Given the description of an element on the screen output the (x, y) to click on. 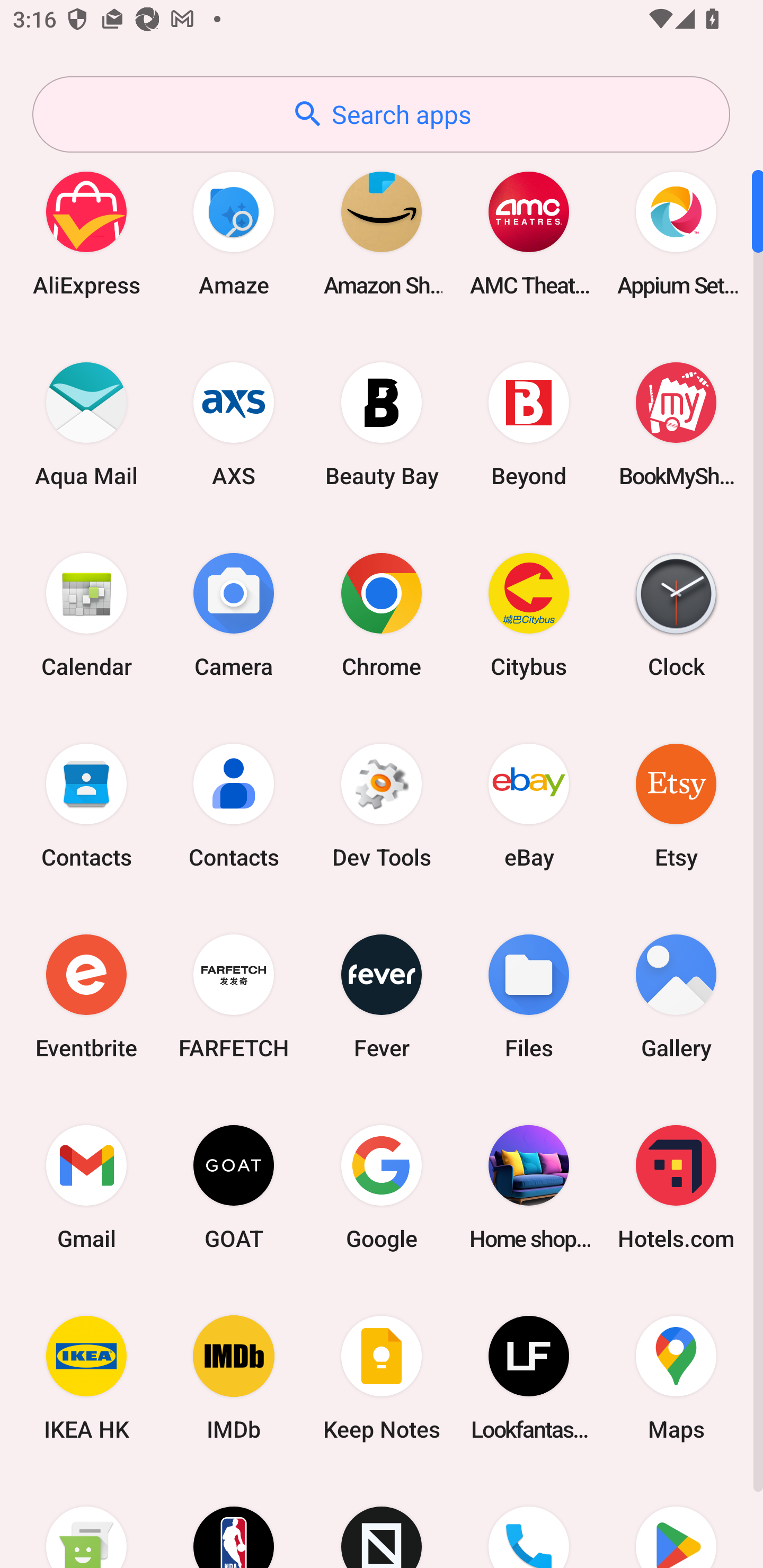
  Search apps (381, 114)
AliExpress (86, 233)
Amaze (233, 233)
Amazon Shopping (381, 233)
AMC Theatres (528, 233)
Appium Settings (676, 233)
Aqua Mail (86, 424)
AXS (233, 424)
Beauty Bay (381, 424)
Beyond (528, 424)
BookMyShow (676, 424)
Calendar (86, 614)
Camera (233, 614)
Chrome (381, 614)
Citybus (528, 614)
Clock (676, 614)
Contacts (86, 805)
Contacts (233, 805)
Dev Tools (381, 805)
eBay (528, 805)
Etsy (676, 805)
Eventbrite (86, 996)
FARFETCH (233, 996)
Fever (381, 996)
Files (528, 996)
Gallery (676, 996)
Gmail (86, 1186)
GOAT (233, 1186)
Google (381, 1186)
Home shopping (528, 1186)
Hotels.com (676, 1186)
IKEA HK (86, 1377)
IMDb (233, 1377)
Keep Notes (381, 1377)
Lookfantastic (528, 1377)
Maps (676, 1377)
